Given the description of an element on the screen output the (x, y) to click on. 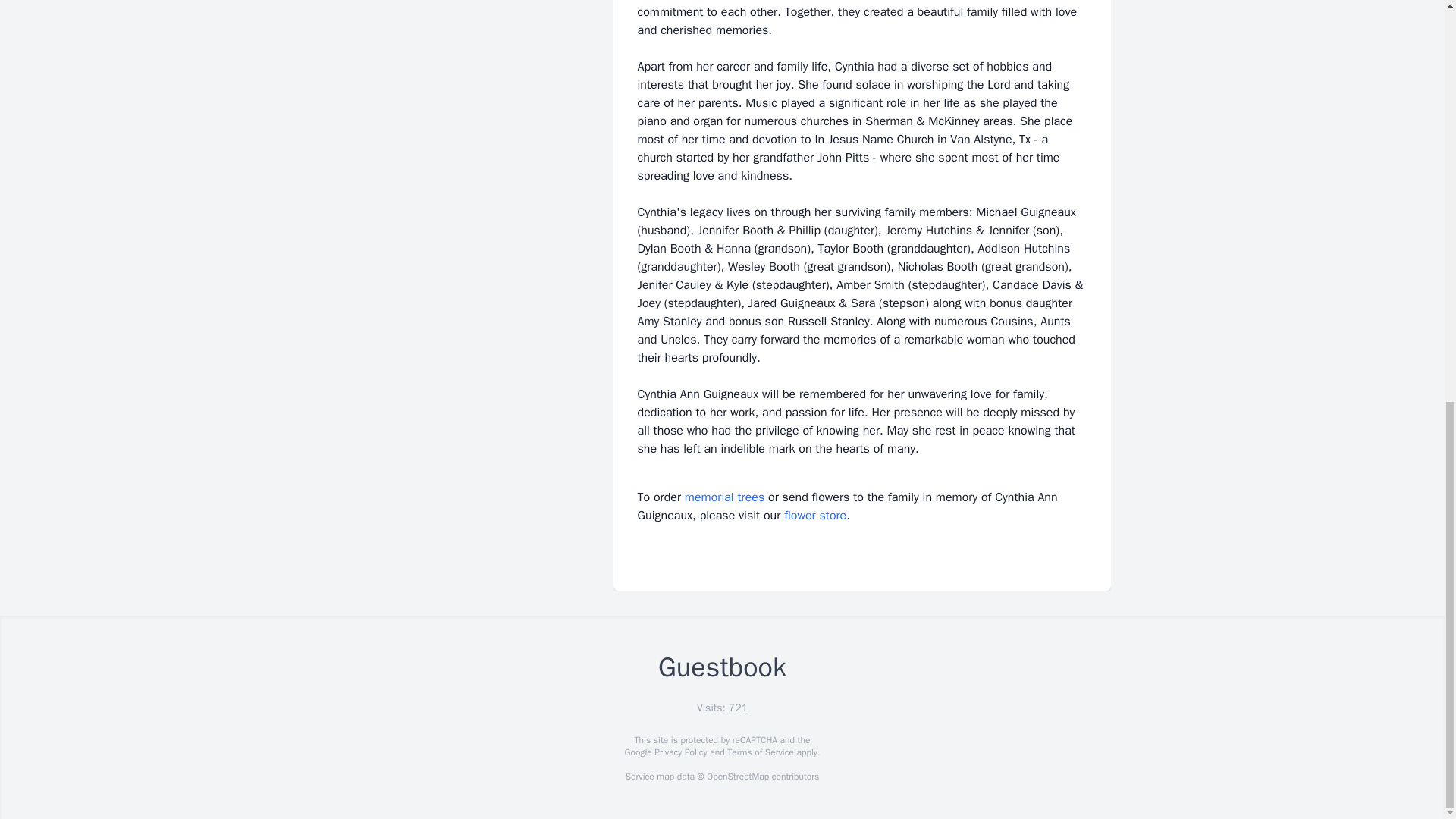
OpenStreetMap (737, 776)
memorial trees (724, 497)
flower store (814, 515)
Privacy Policy (679, 752)
Terms of Service (759, 752)
